Given the description of an element on the screen output the (x, y) to click on. 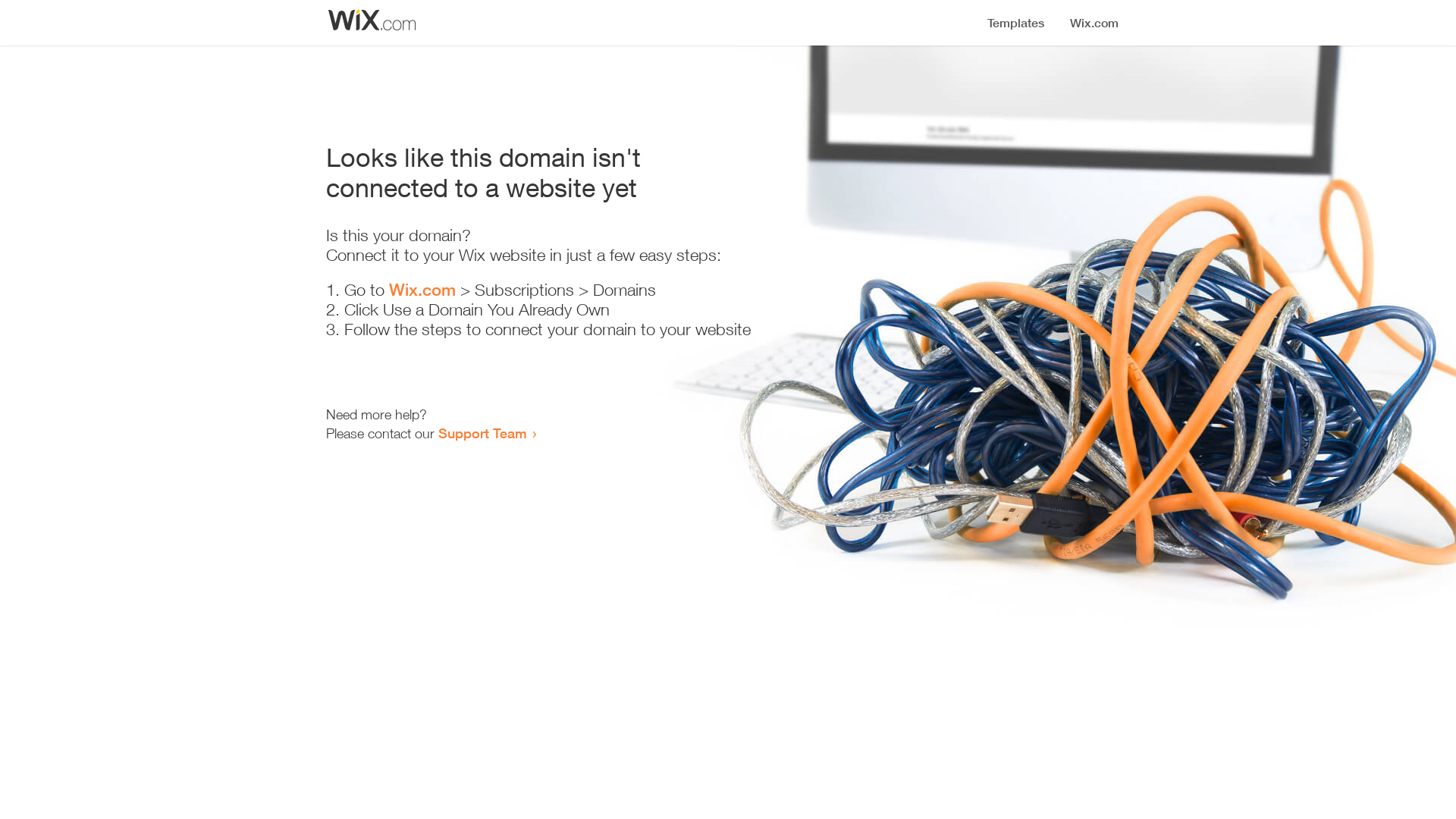
Wix.com Element type: text (422, 289)
Support Team Element type: text (482, 432)
